Given the description of an element on the screen output the (x, y) to click on. 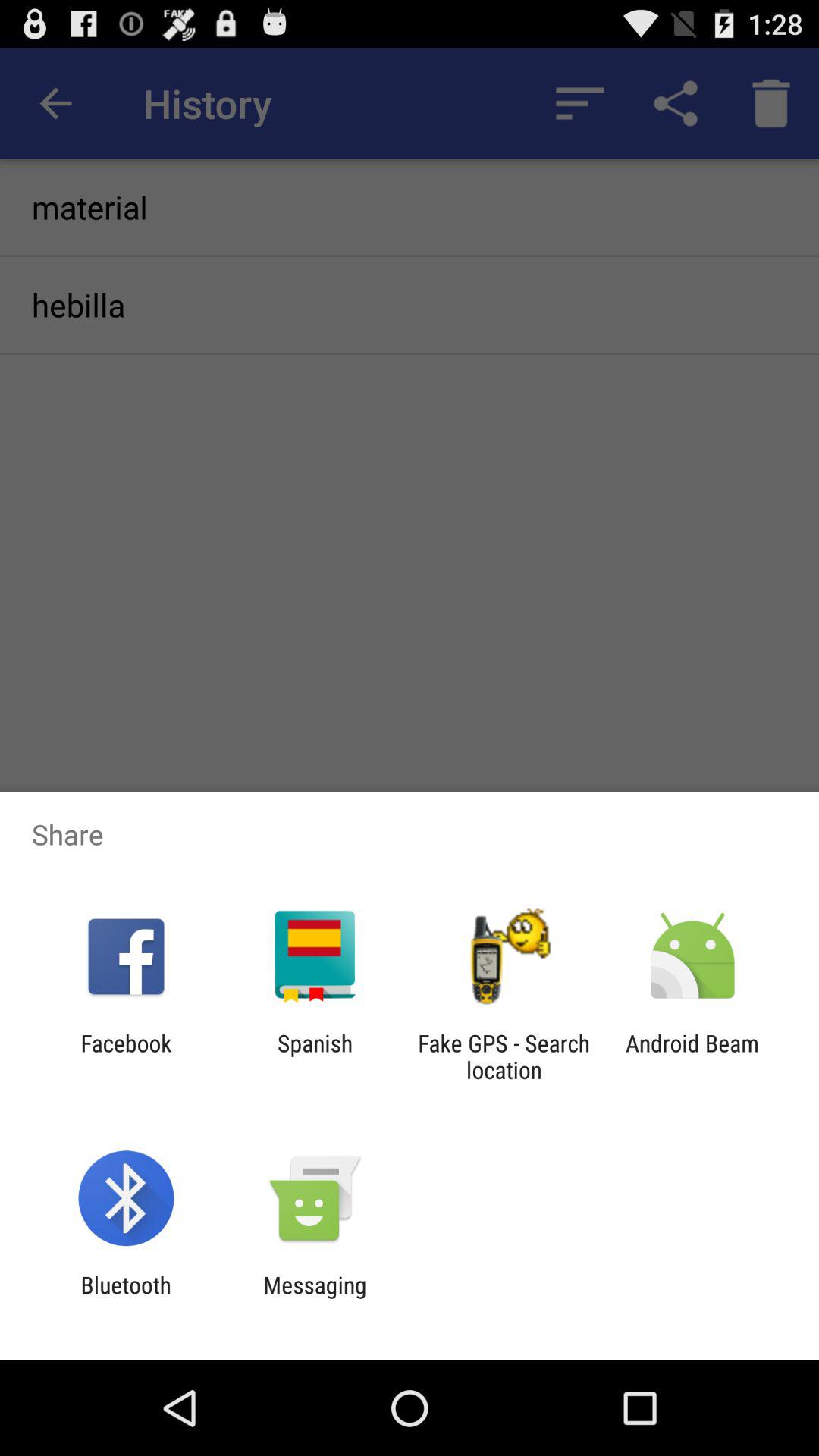
choose the item next to the spanish item (125, 1056)
